Given the description of an element on the screen output the (x, y) to click on. 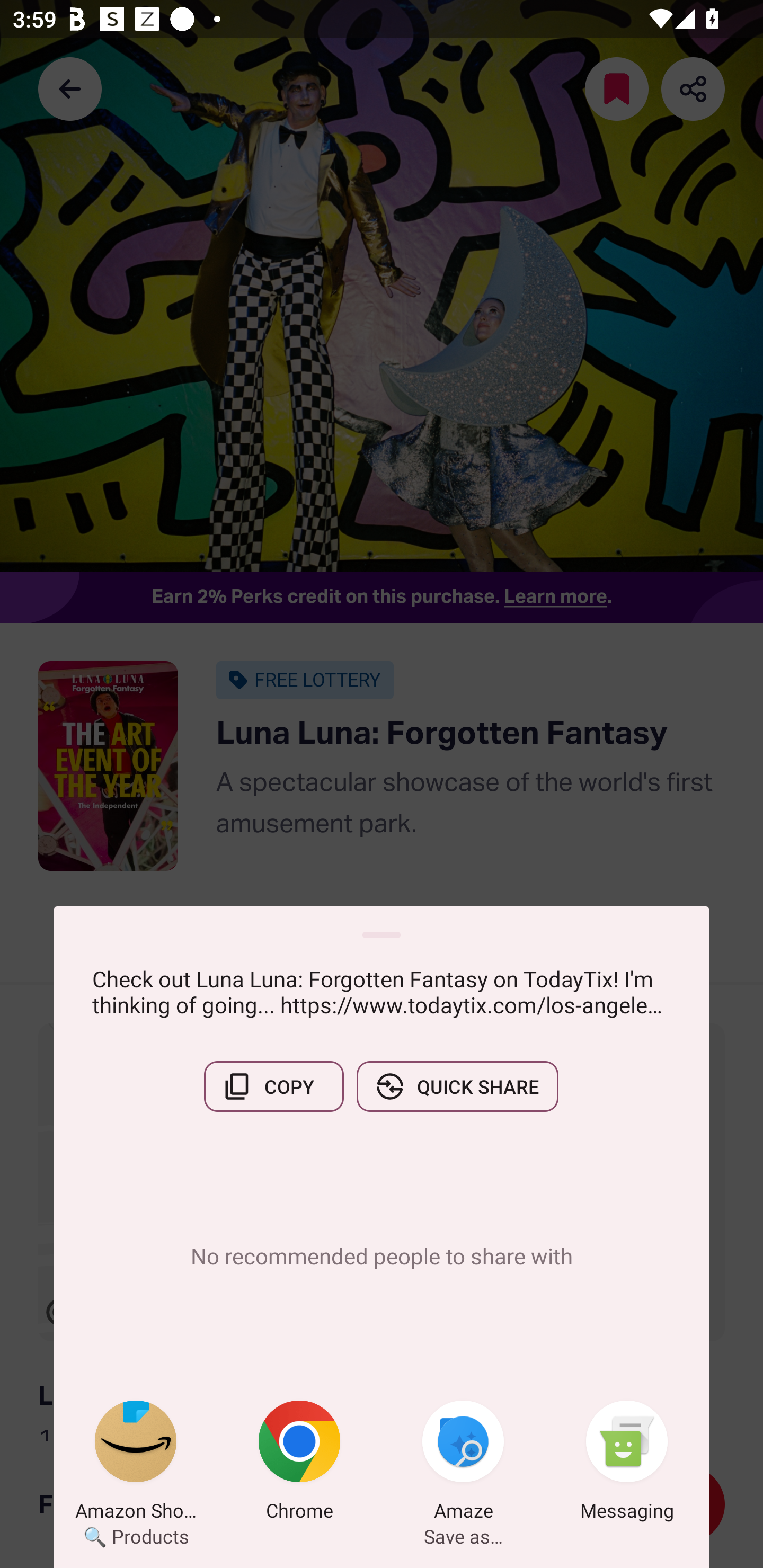
COPY (273, 1086)
QUICK SHARE (457, 1086)
Amazon Shopping 🔍 Products (135, 1463)
Chrome (299, 1463)
Amaze Save as… (463, 1463)
Messaging (626, 1463)
